Given the description of an element on the screen output the (x, y) to click on. 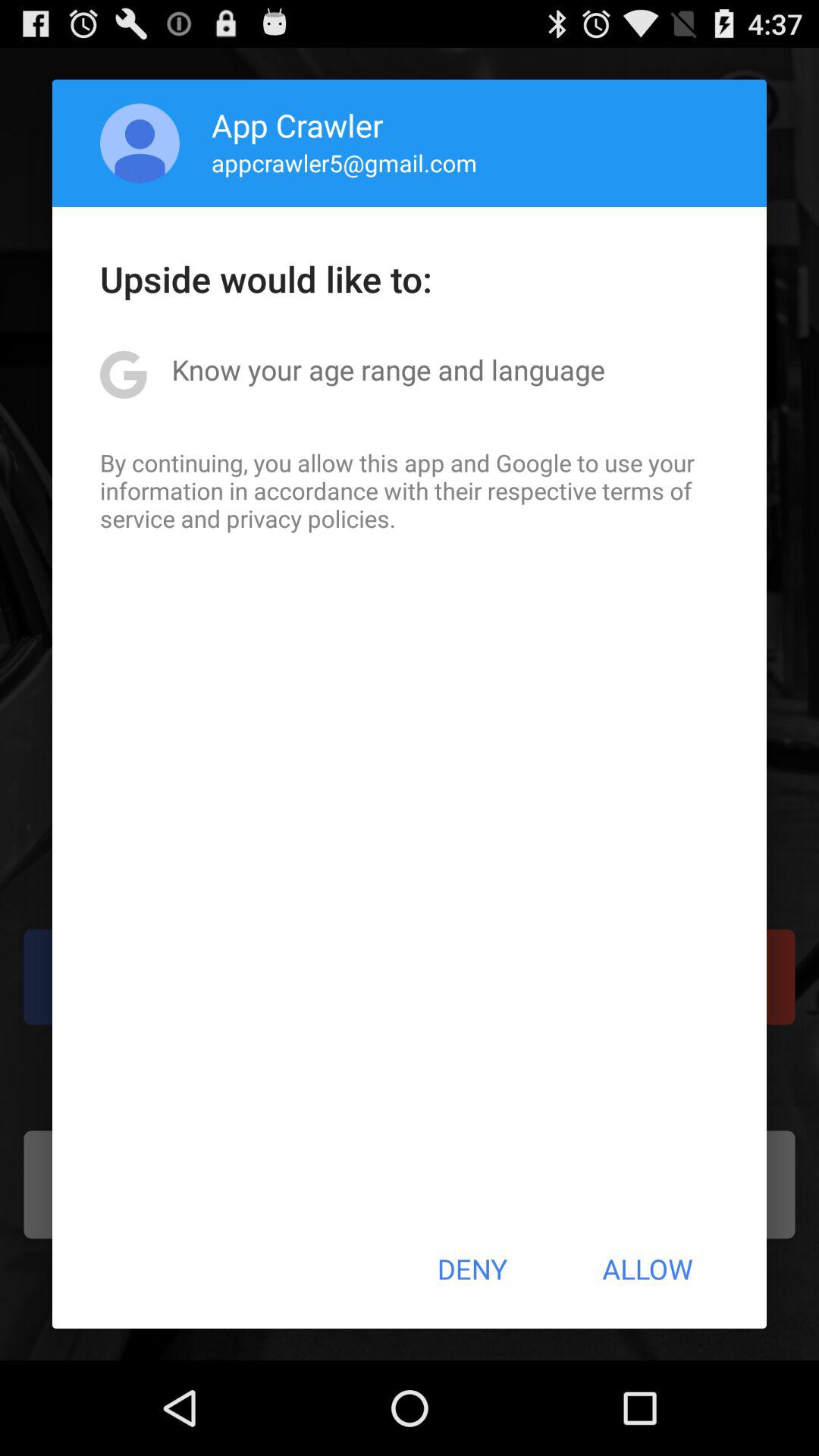
click the button next to the allow item (471, 1268)
